Given the description of an element on the screen output the (x, y) to click on. 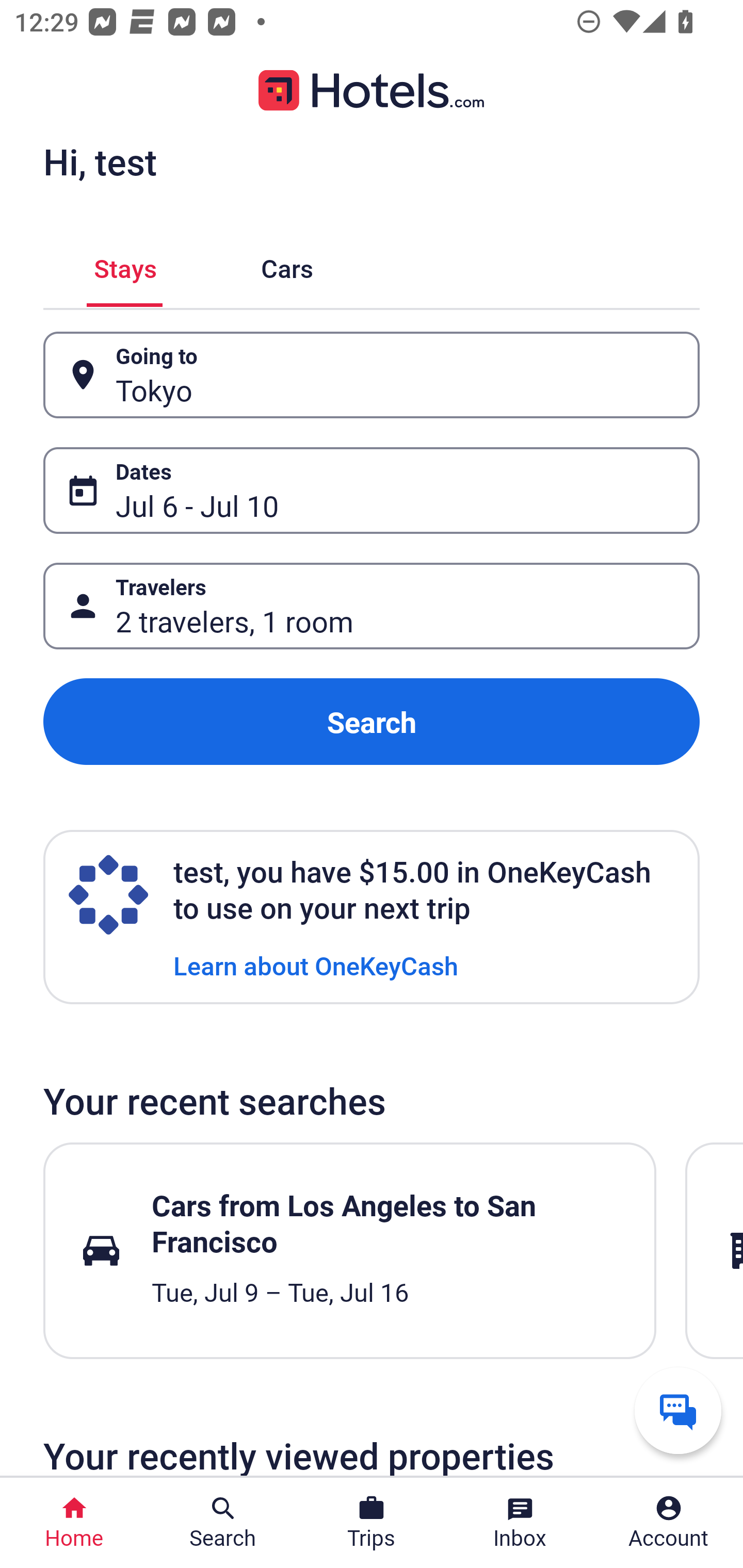
Hi, test (99, 161)
Cars (286, 265)
Going to Button Tokyo (371, 375)
Dates Button Jul 6 - Jul 10 (371, 489)
Travelers Button 2 travelers, 1 room (371, 605)
Search (371, 721)
Learn about OneKeyCash Learn about OneKeyCash Link (315, 964)
Get help from a virtual agent (677, 1410)
Search Search Button (222, 1522)
Trips Trips Button (371, 1522)
Inbox Inbox Button (519, 1522)
Account Profile. Button (668, 1522)
